Given the description of an element on the screen output the (x, y) to click on. 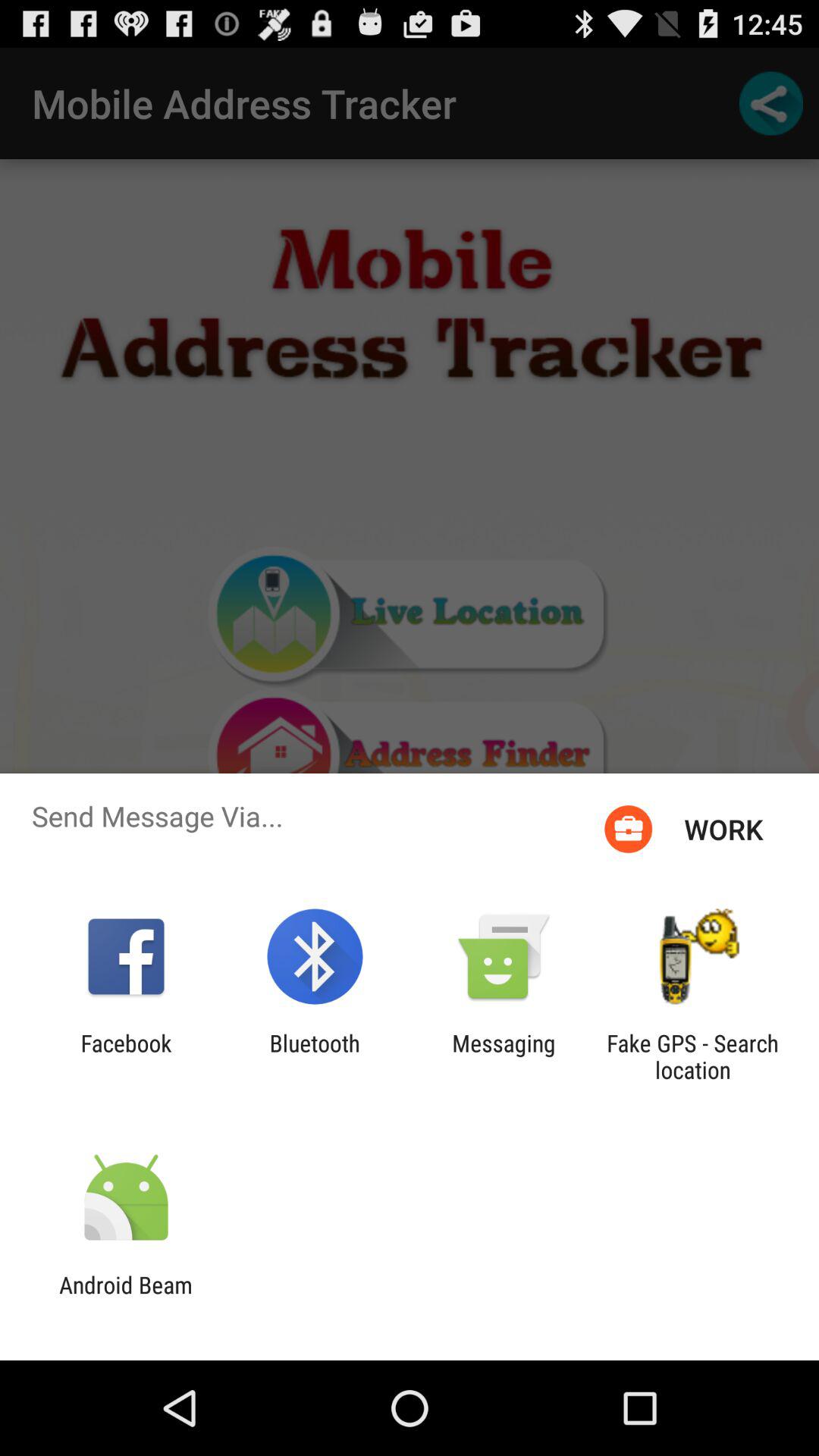
launch app next to the bluetooth icon (503, 1056)
